Given the description of an element on the screen output the (x, y) to click on. 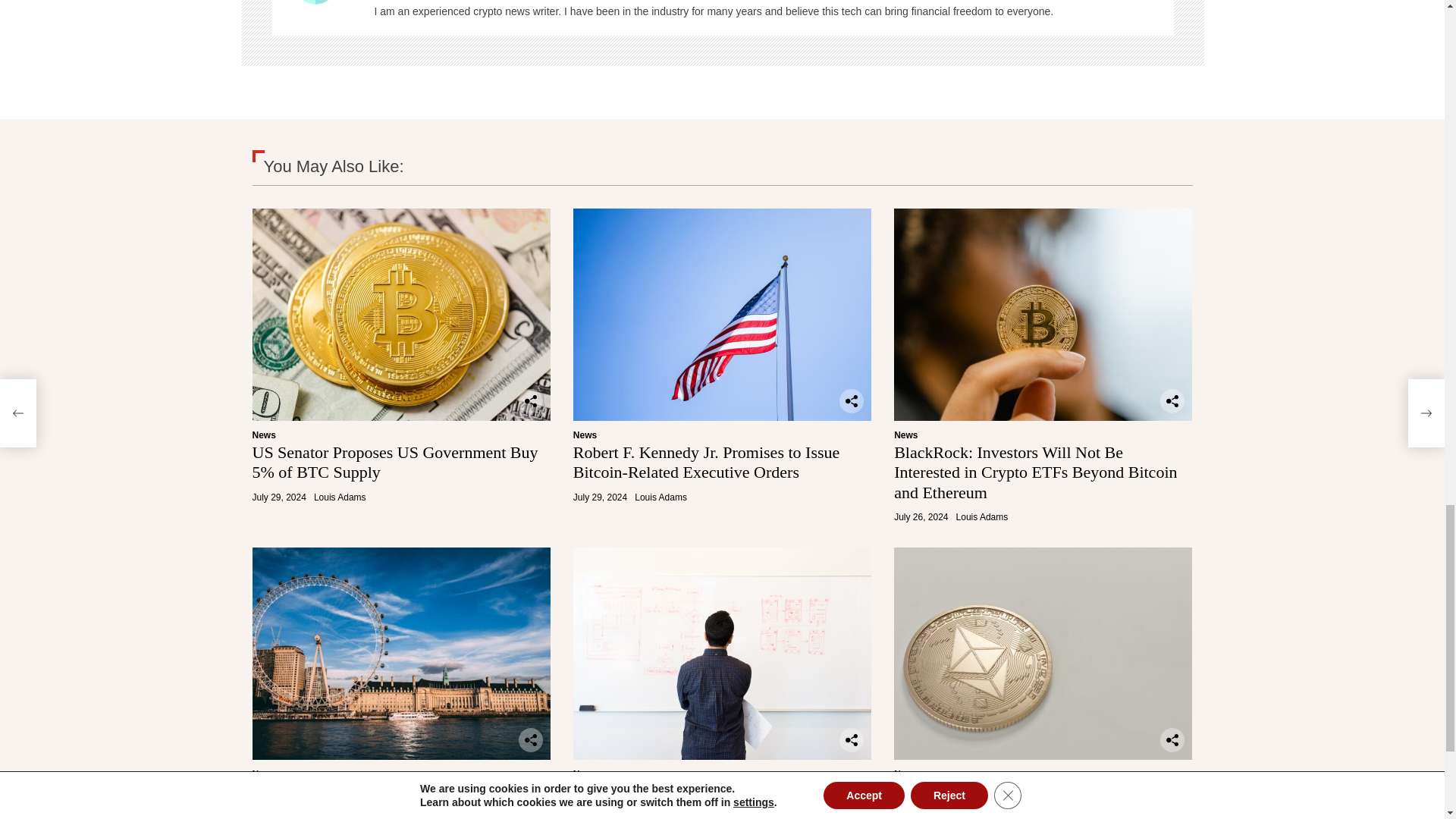
Louis Adams (314, 17)
